Given the description of an element on the screen output the (x, y) to click on. 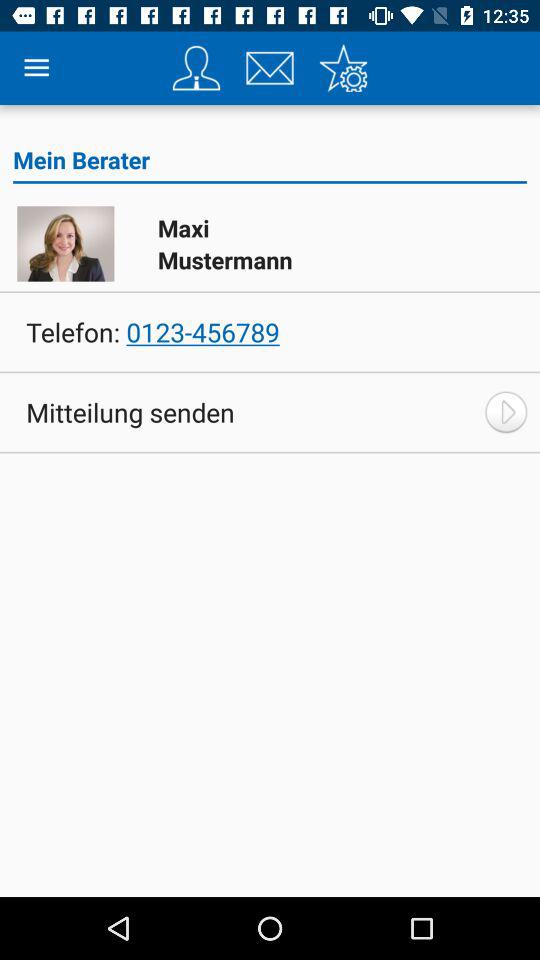
view your profile (196, 67)
